Given the description of an element on the screen output the (x, y) to click on. 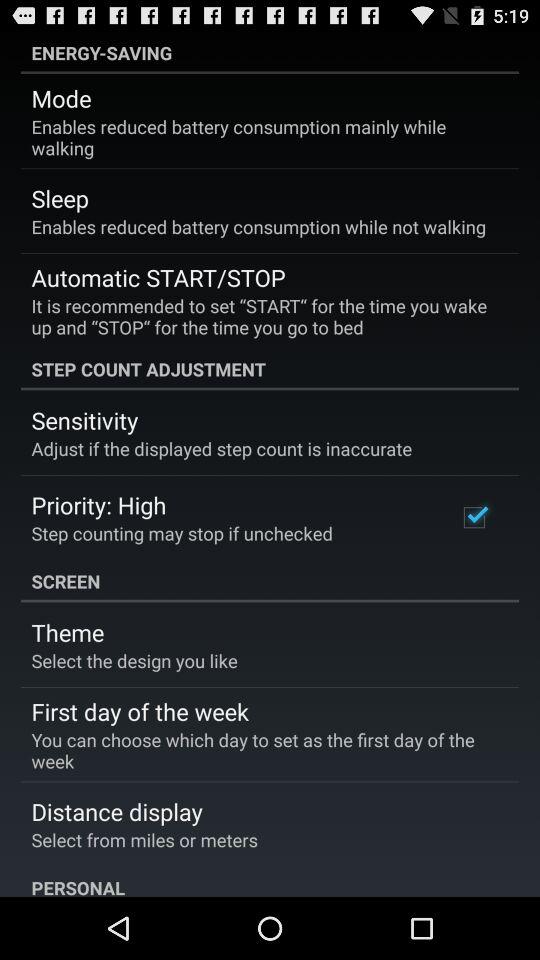
open it is recommended item (263, 316)
